Given the description of an element on the screen output the (x, y) to click on. 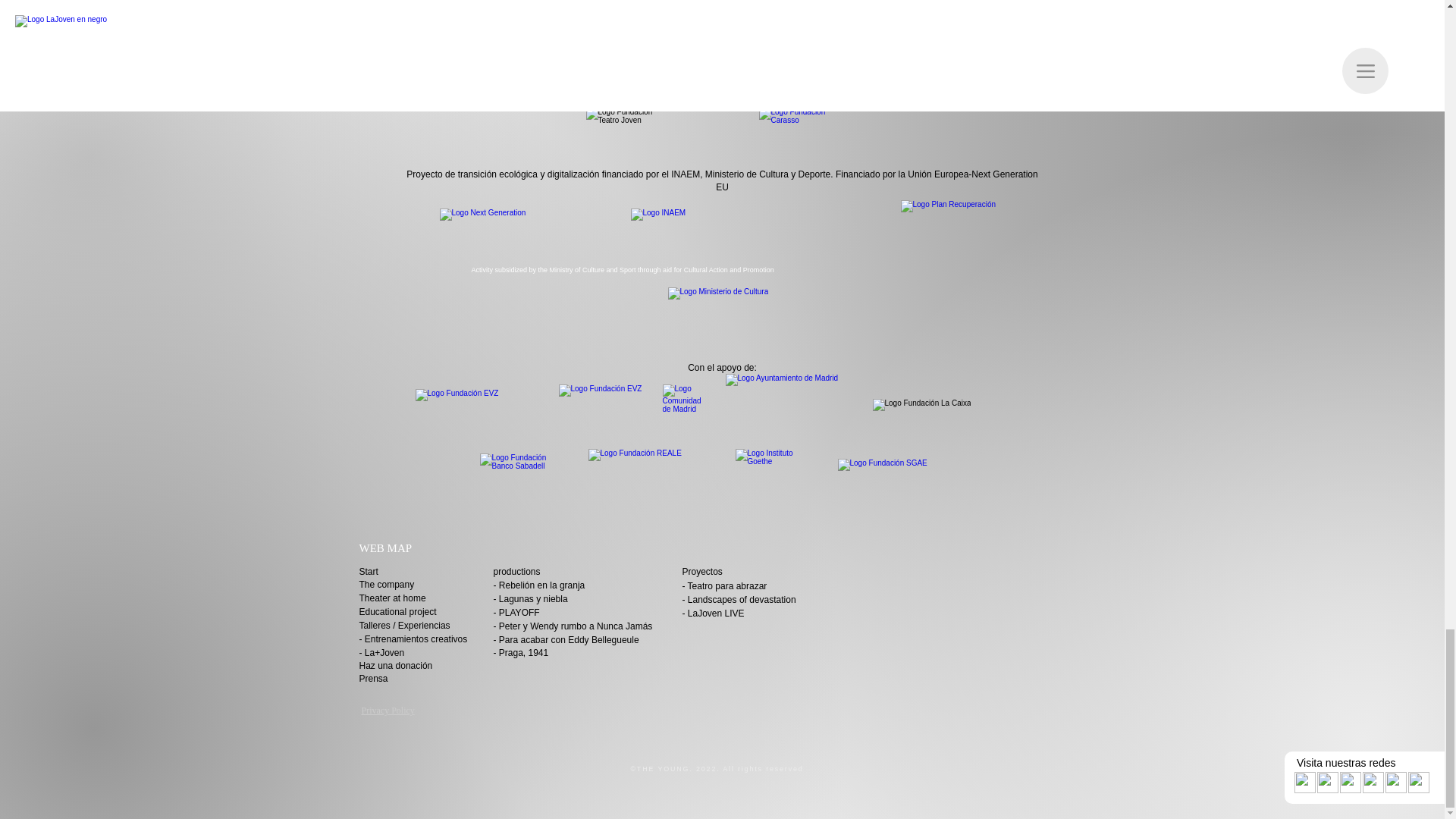
INAEM (750, 229)
The company (389, 584)
Start (370, 571)
